Given the description of an element on the screen output the (x, y) to click on. 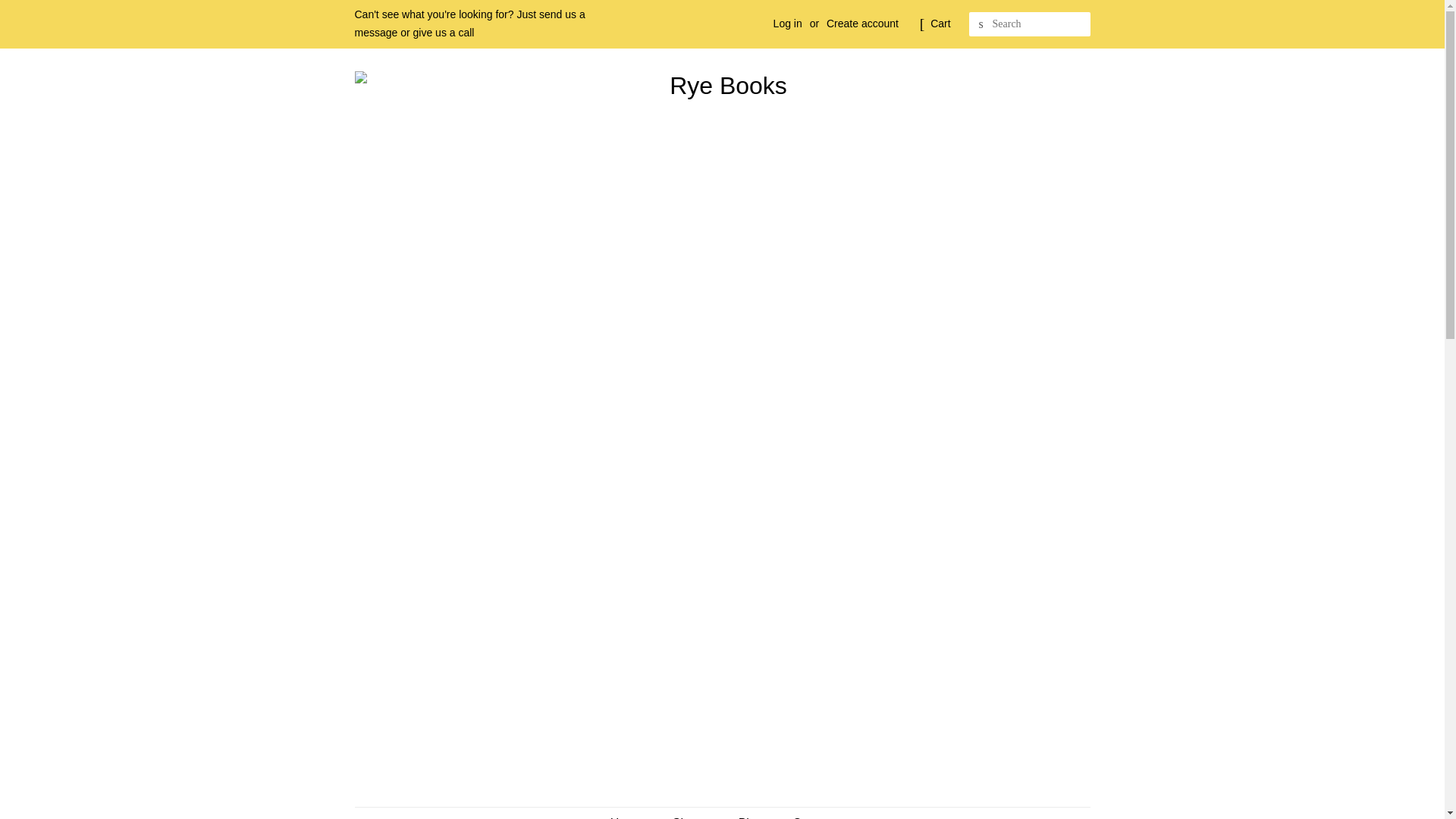
Search (980, 24)
Cart (940, 24)
Create account (862, 23)
Log in (787, 23)
